Given the description of an element on the screen output the (x, y) to click on. 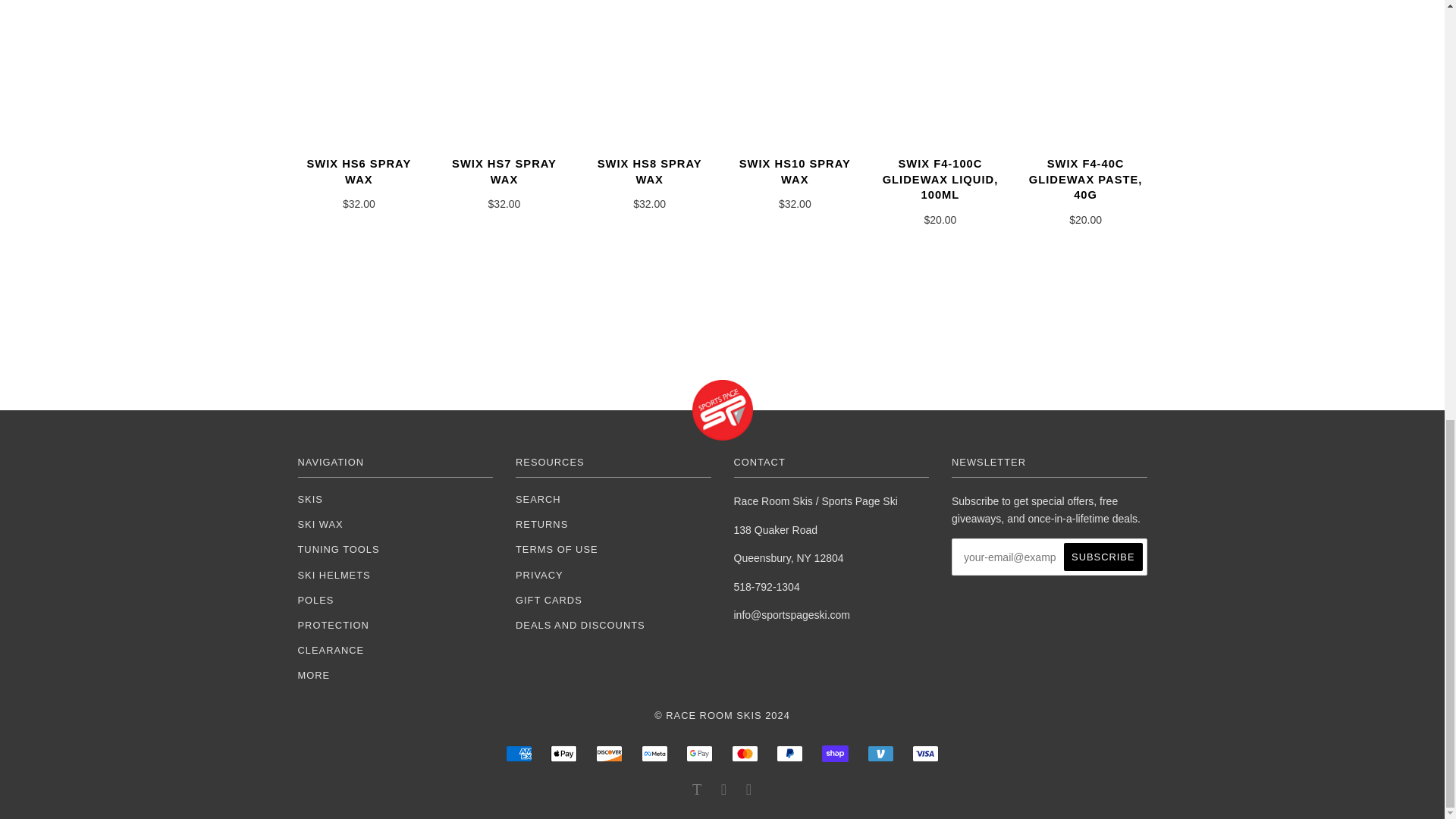
AMERICAN EXPRESS (518, 753)
MASTERCARD (745, 753)
GOOGLE PAY (699, 753)
Subscribe (1102, 556)
PAYPAL (789, 753)
VENMO (880, 753)
DISCOVER (609, 753)
META PAY (655, 753)
VISA (925, 753)
SHOP PAY (835, 753)
APPLE PAY (563, 753)
